Given the description of an element on the screen output the (x, y) to click on. 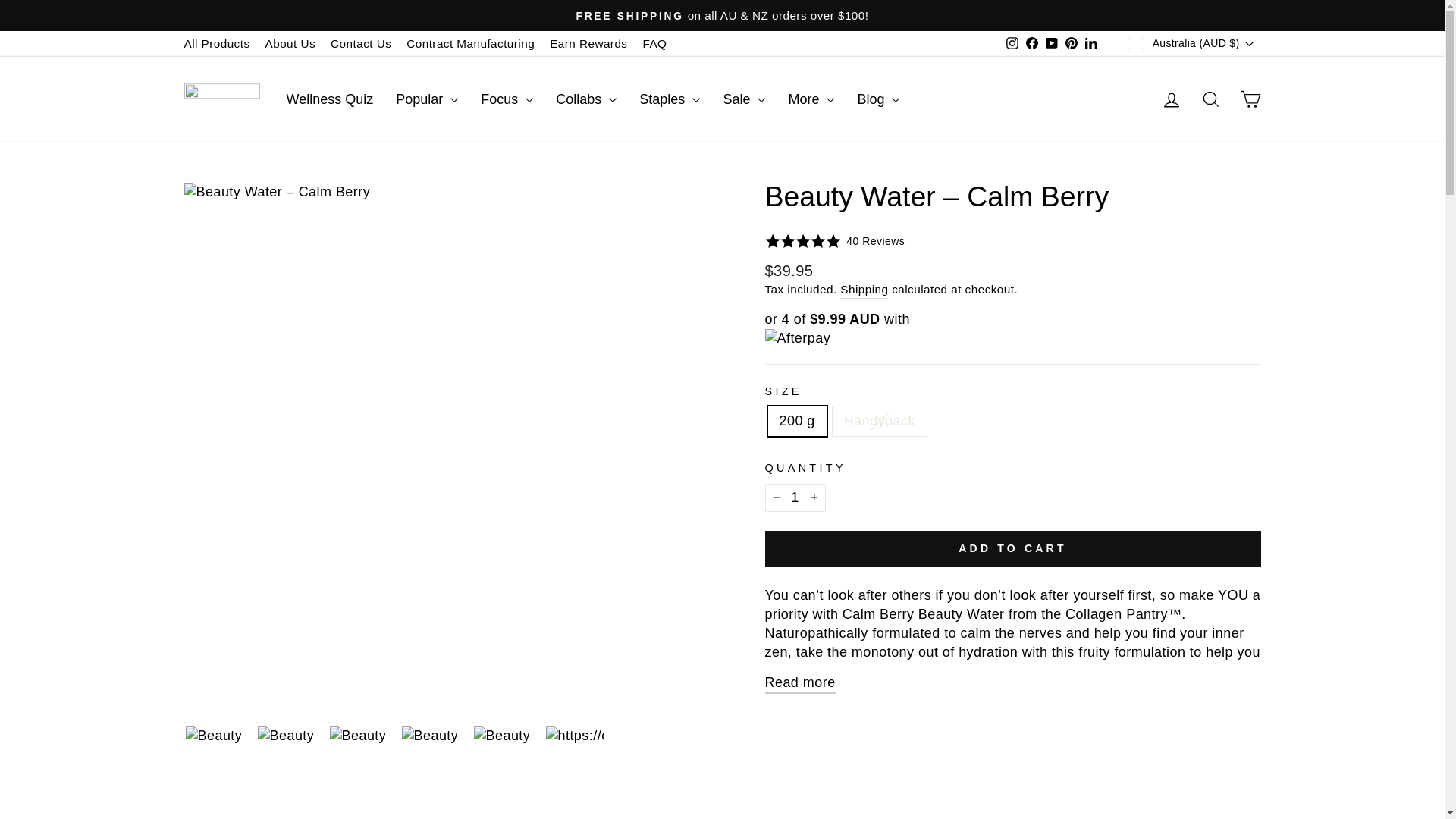
1 (794, 497)
account (1170, 99)
instagram (1011, 42)
icon-search (1210, 98)
